Given the description of an element on the screen output the (x, y) to click on. 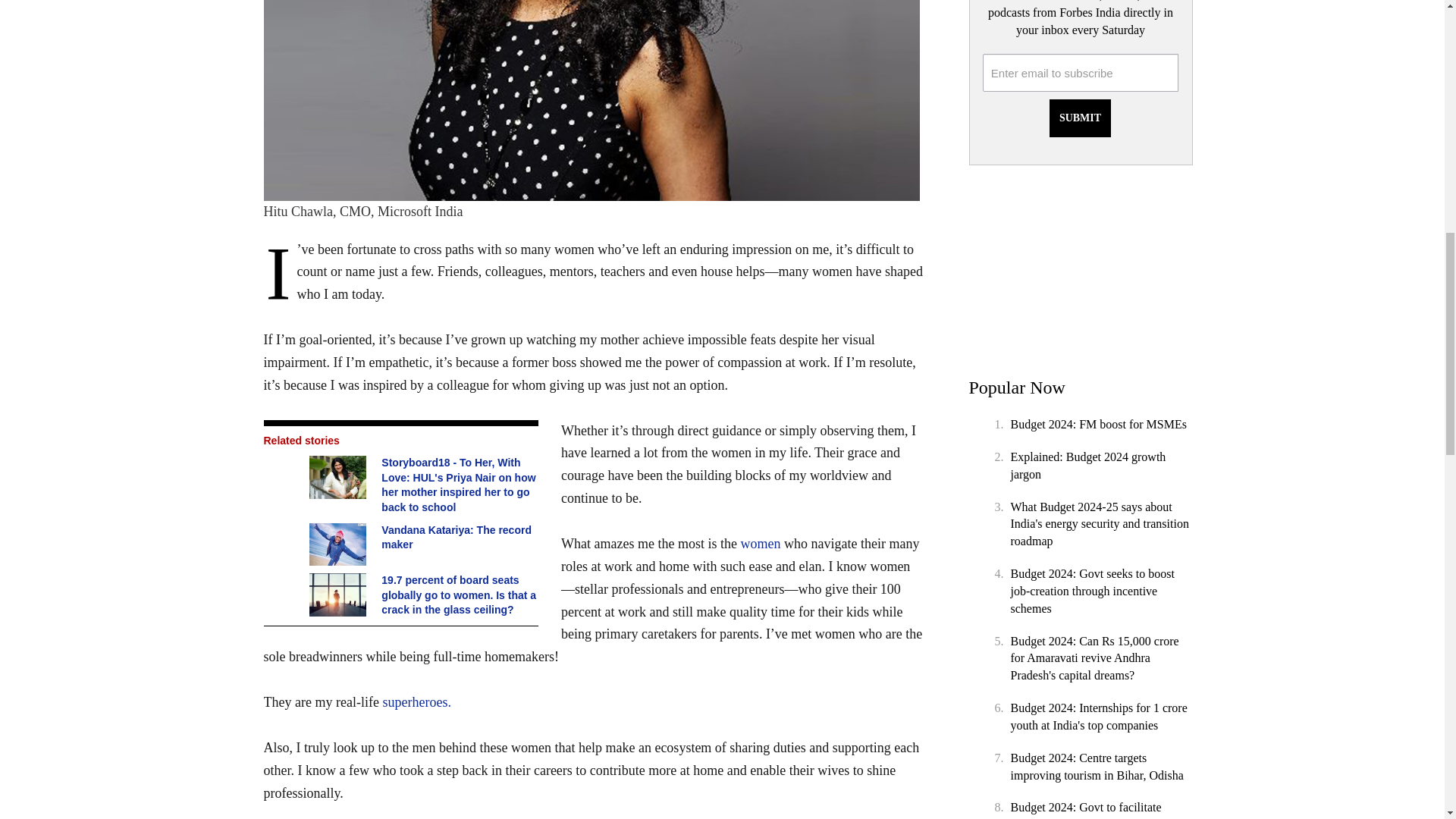
Vandana Katariya: The record maker (339, 544)
